Given the description of an element on the screen output the (x, y) to click on. 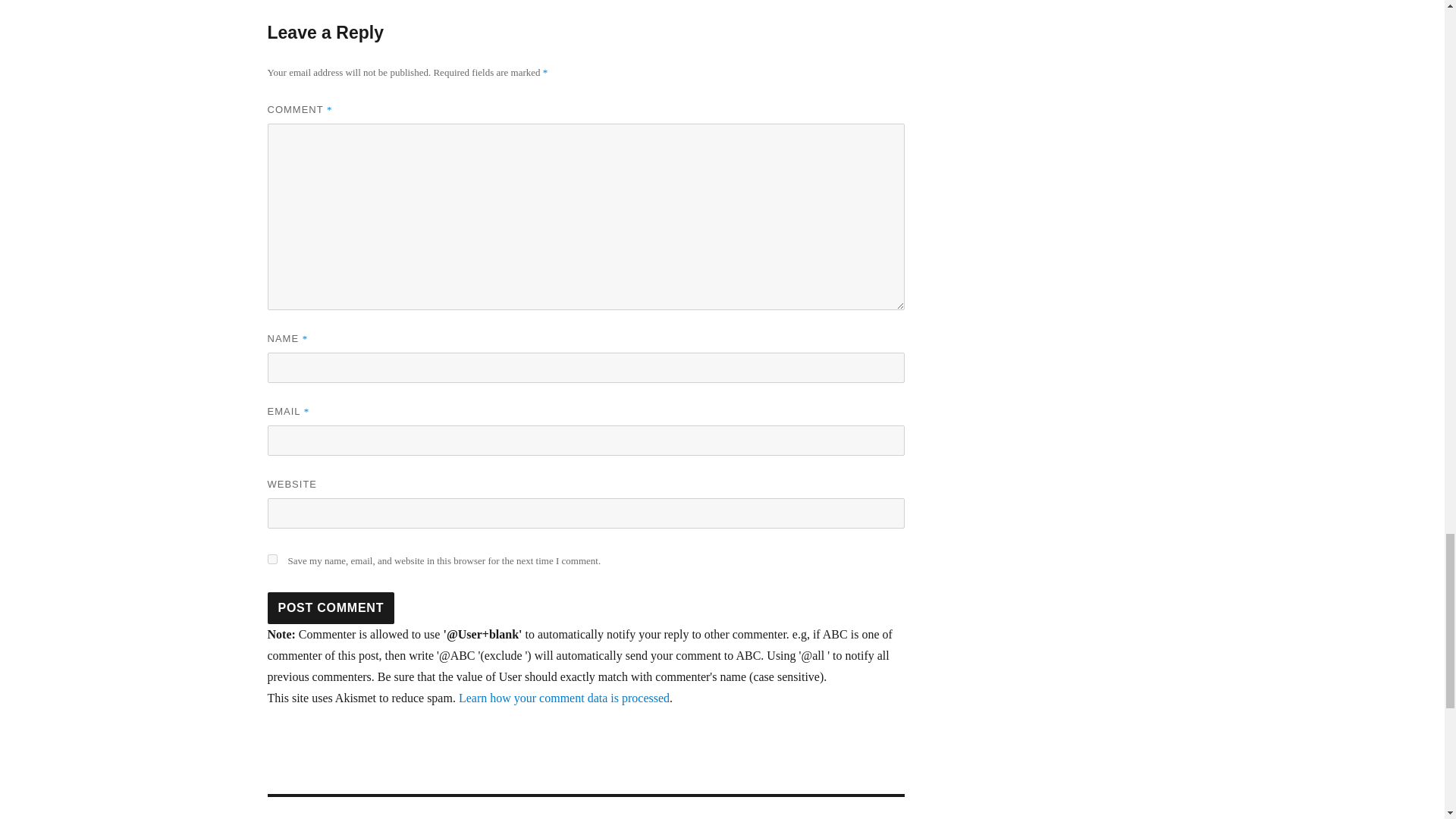
yes (271, 559)
Post Comment (330, 608)
